Given the description of an element on the screen output the (x, y) to click on. 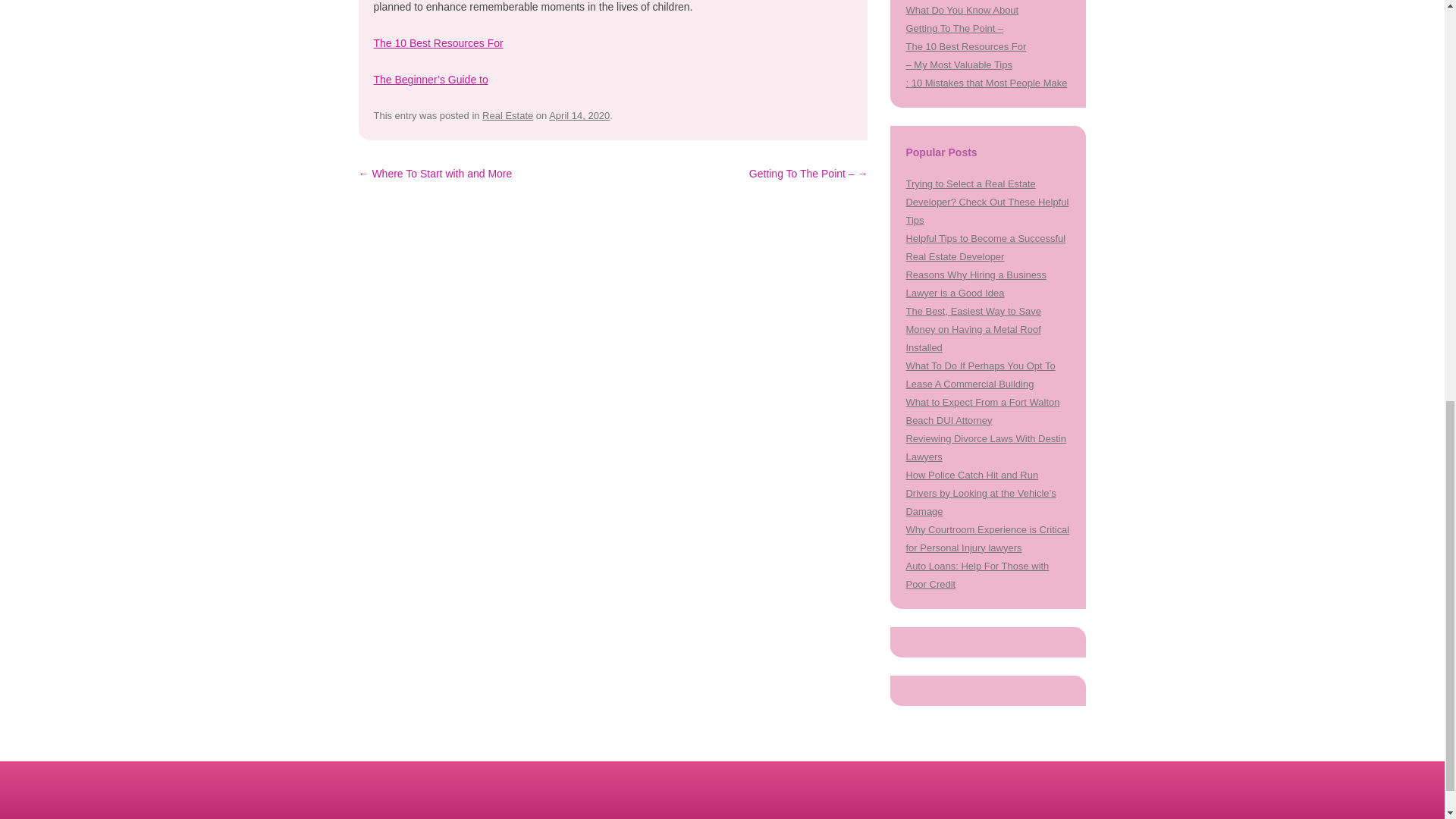
6:15 pm (579, 115)
Reviewing Divorce Laws With Destin Lawyers (985, 447)
Real Estate (506, 115)
What to Expect From a Fort Walton Beach DUI Attorney (982, 410)
What Do You Know About (961, 9)
Helpful Tips to Become a Successful Real Estate Developer (985, 247)
Reasons Why Hiring a Business Lawyer is a Good Idea (975, 283)
Auto Loans: Help For Those with Poor Credit (976, 574)
April 14, 2020 (579, 115)
The 10 Best Resources For (437, 42)
What To Do If Perhaps You Opt To Lease A Commercial Building (979, 374)
